Given the description of an element on the screen output the (x, y) to click on. 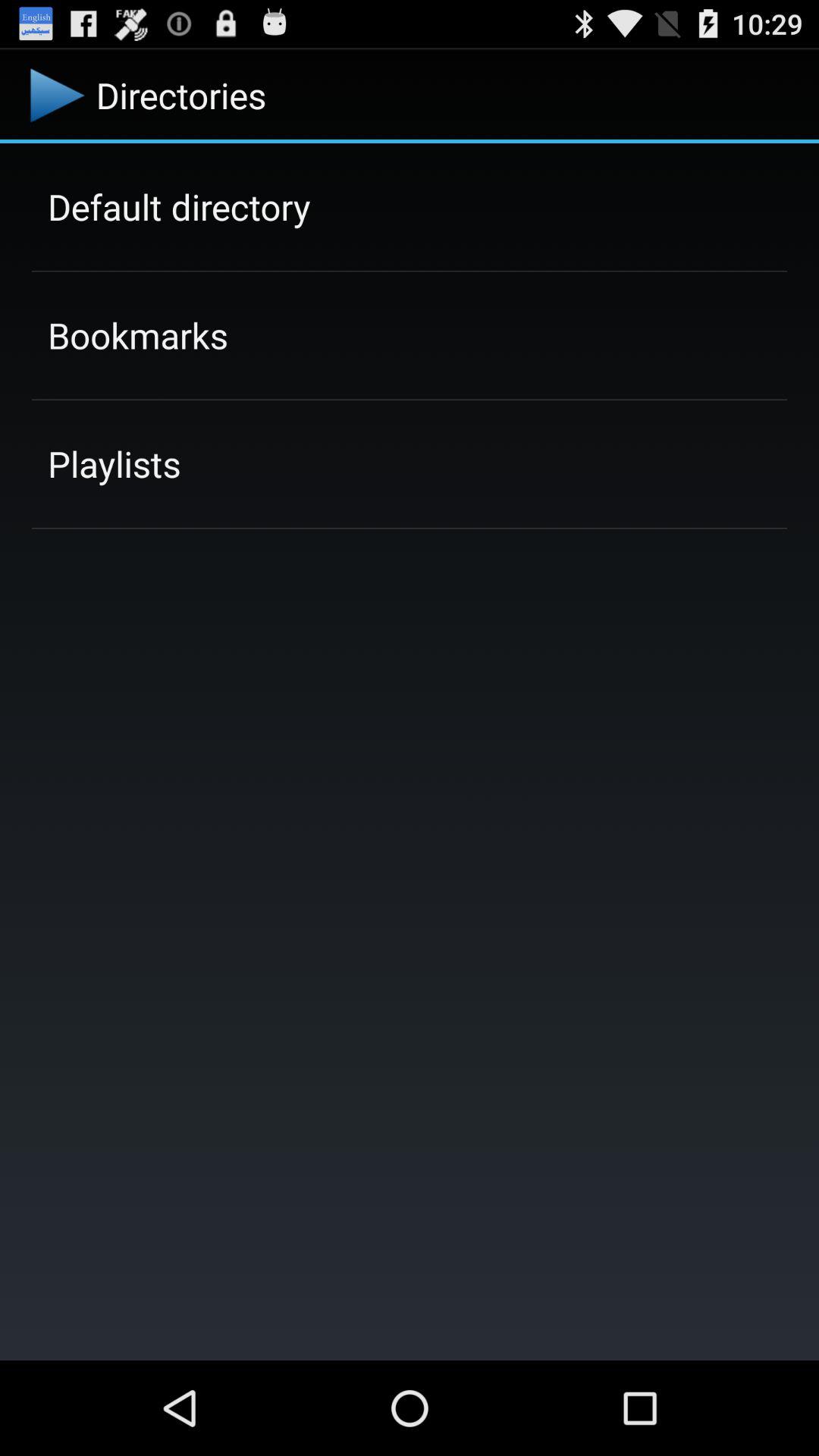
swipe until bookmarks item (137, 335)
